Given the description of an element on the screen output the (x, y) to click on. 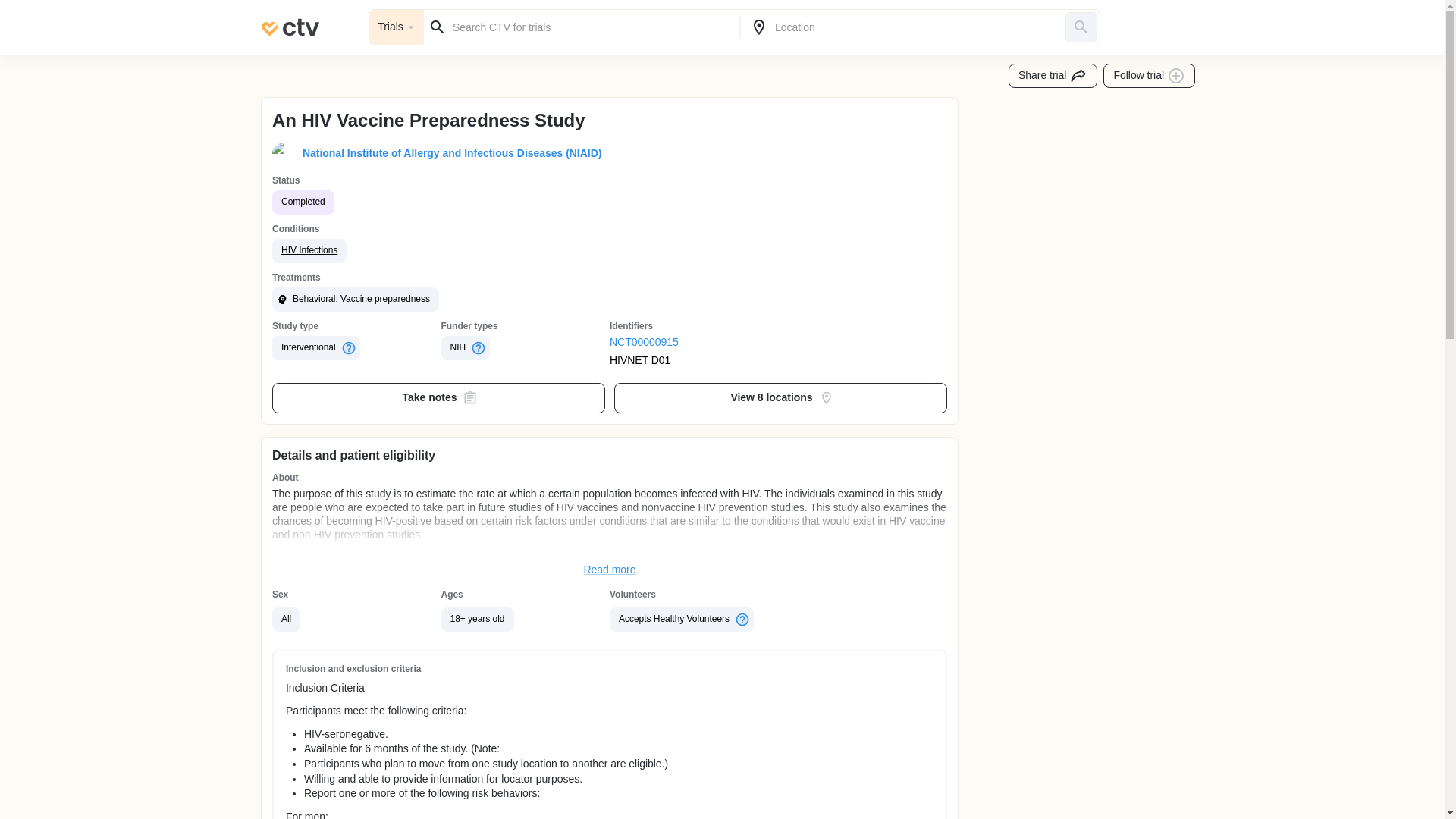
Take notes (438, 398)
Follow trial (1149, 75)
Read more (609, 570)
Share trial (1053, 75)
NCT00000915 (694, 342)
View 8 locations (780, 398)
Trials (396, 27)
